Given the description of an element on the screen output the (x, y) to click on. 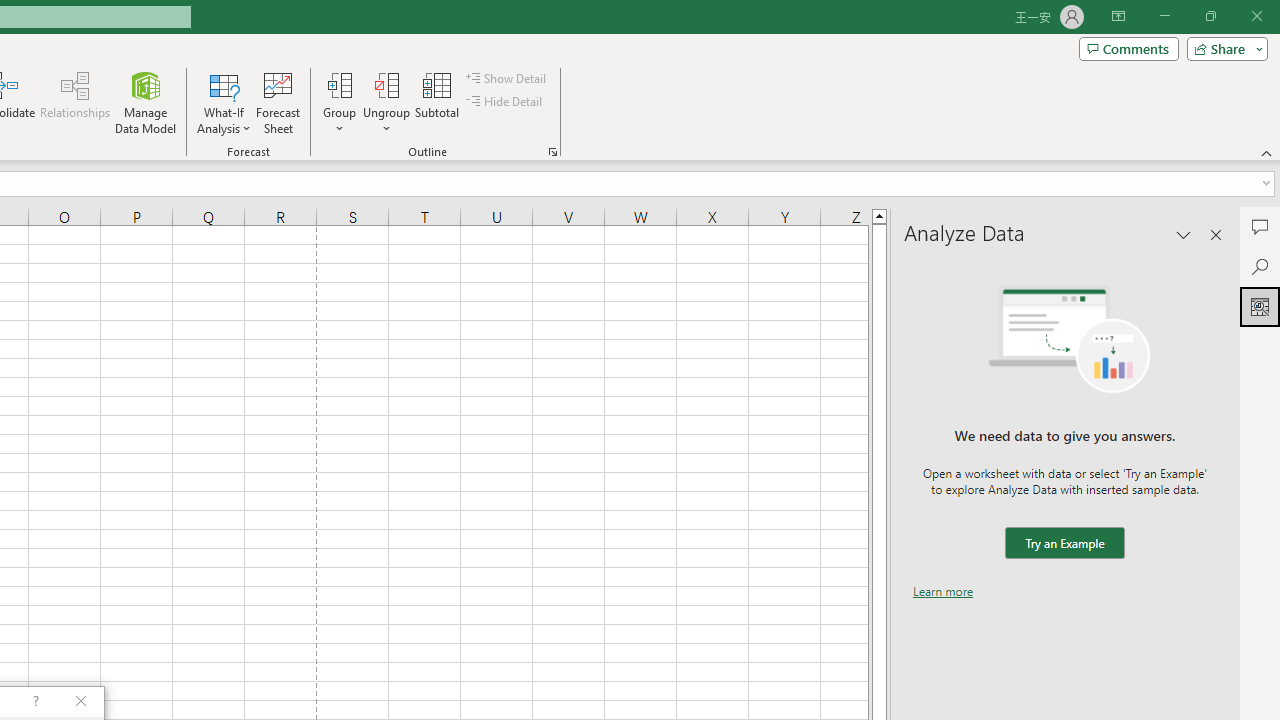
Subtotal (437, 102)
Relationships (75, 102)
Learn more (943, 591)
What-If Analysis (223, 102)
Group and Outline Settings (552, 151)
